Given the description of an element on the screen output the (x, y) to click on. 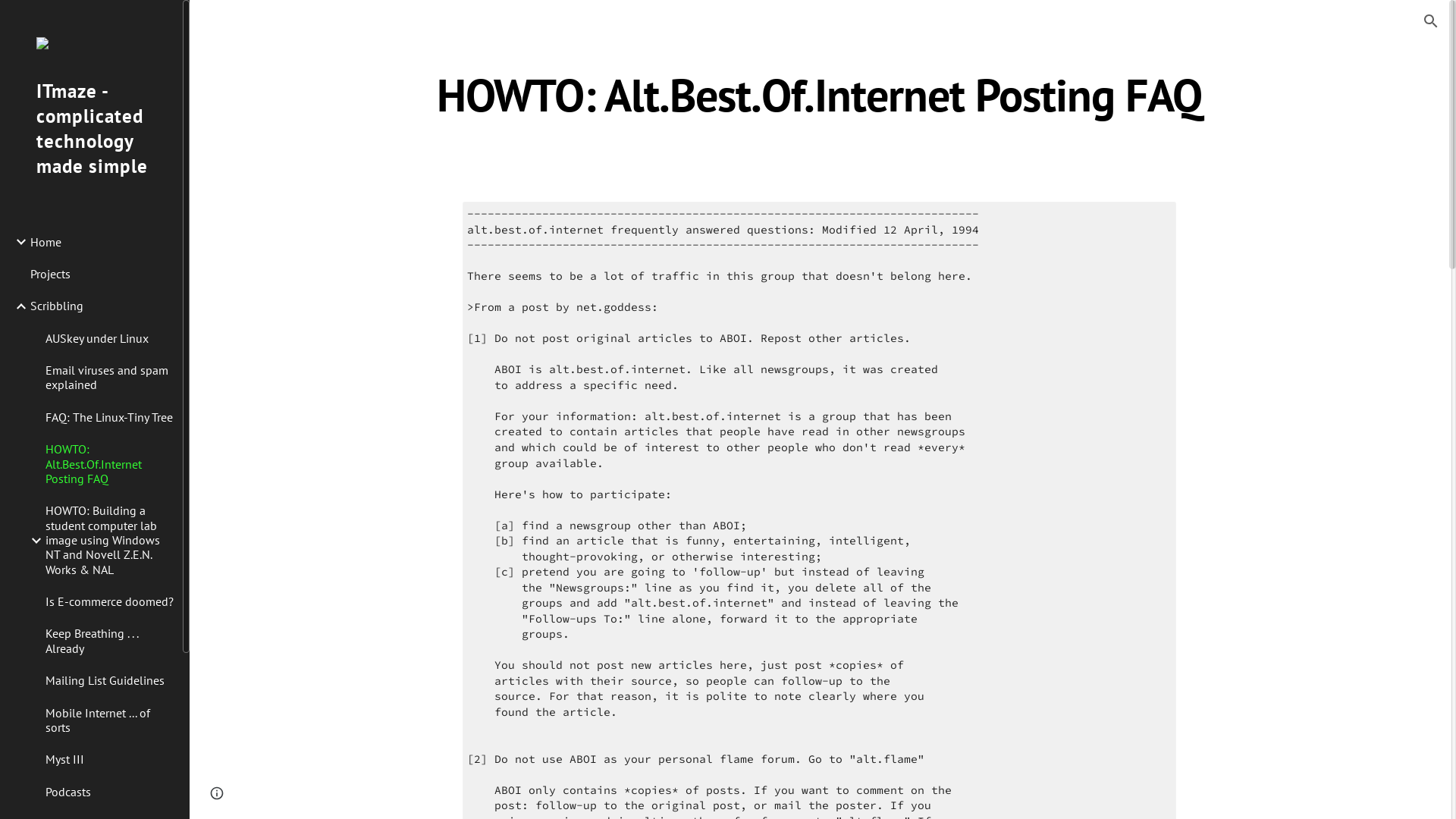
HOWTO: Alt.Best.Of.Internet Posting FAQ Element type: text (107, 464)
Is E-commerce doomed? Element type: text (107, 602)
Scribbling Element type: text (100, 306)
FAQ: The Linux-Tiny Tree Element type: text (107, 417)
Home Element type: text (100, 241)
Expand/Collapse Element type: hover (16, 306)
Myst III Element type: text (107, 759)
Projects Element type: text (100, 274)
ITmaze - complicated technology made simple Element type: text (91, 147)
Email viruses and spam explained Element type: text (107, 377)
Mailing List Guidelines Element type: text (107, 680)
Expand/Collapse Element type: hover (31, 540)
Podcasts Element type: text (107, 791)
Expand/Collapse Element type: hover (16, 241)
AUSkey under Linux Element type: text (107, 338)
Mobile Internet ... of sorts Element type: text (107, 719)
Keep Breathing . . . Already Element type: text (107, 641)
